Given the description of an element on the screen output the (x, y) to click on. 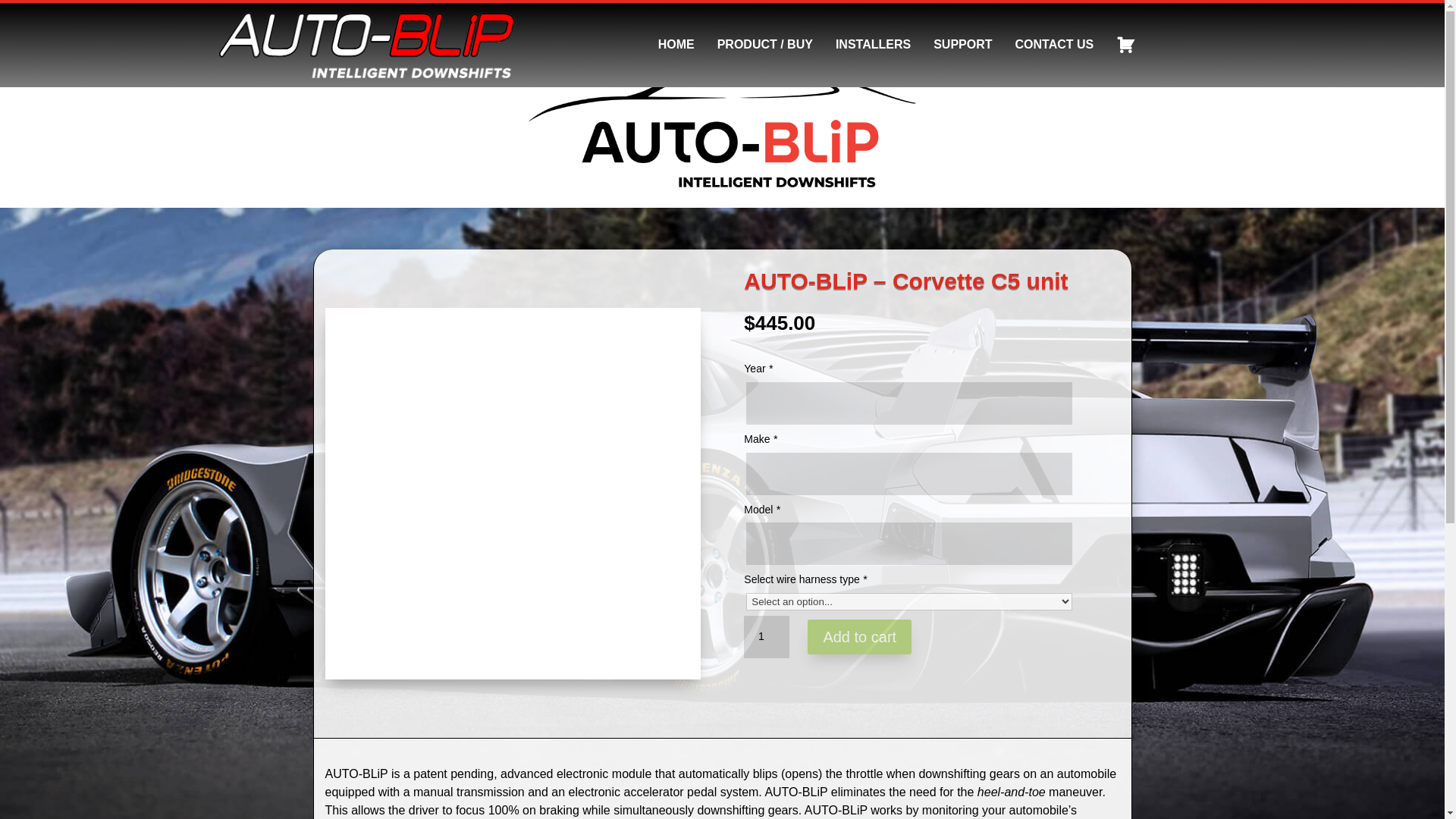
Add to cart (859, 636)
newhomepagelogo (721, 124)
smallnewlogo (366, 44)
CONTACT US (1054, 44)
1 (766, 636)
SUPPORT (962, 44)
HOME (675, 44)
INSTALLERS (873, 44)
